Given the description of an element on the screen output the (x, y) to click on. 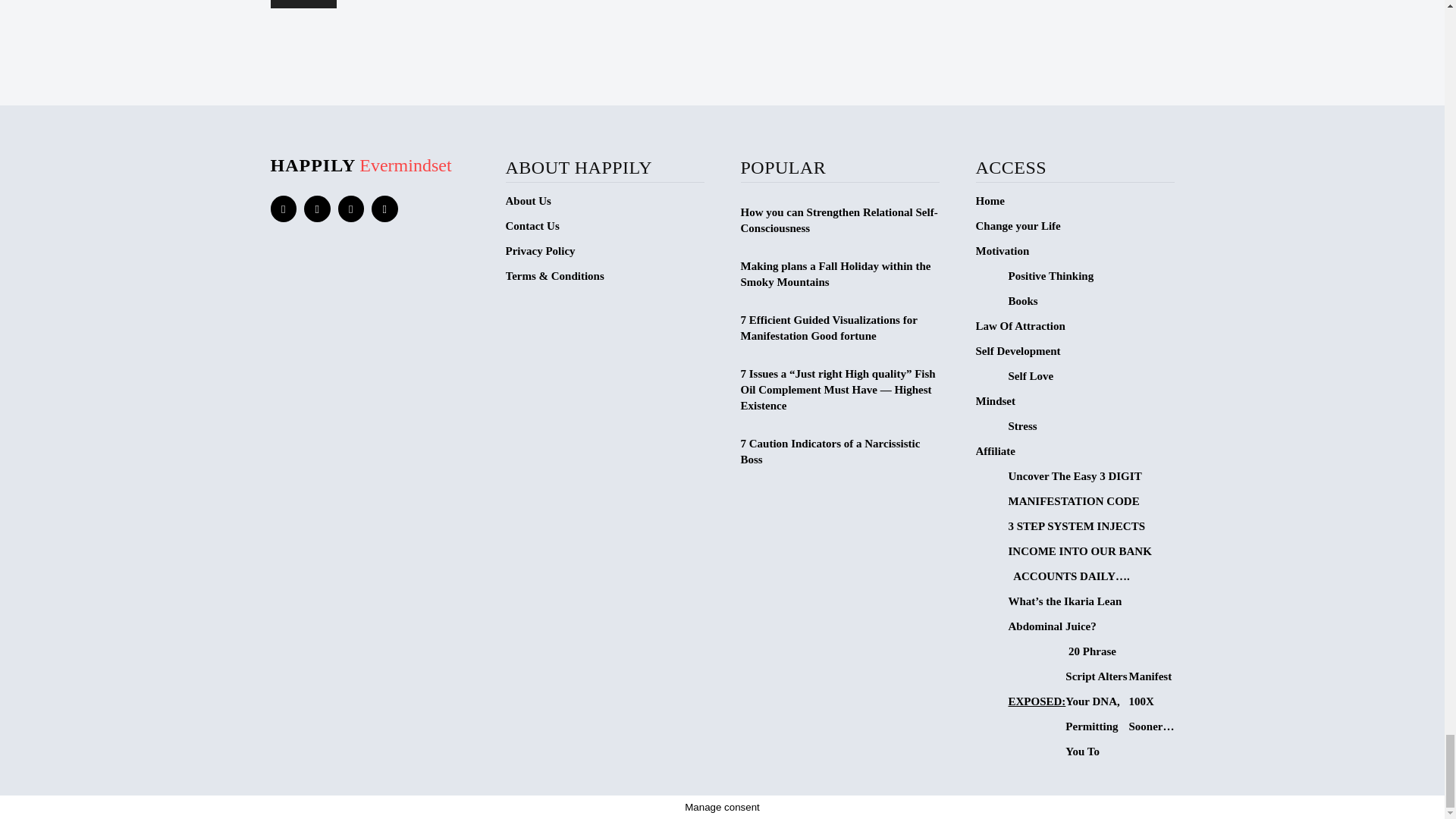
Subscribe (302, 4)
